Given the description of an element on the screen output the (x, y) to click on. 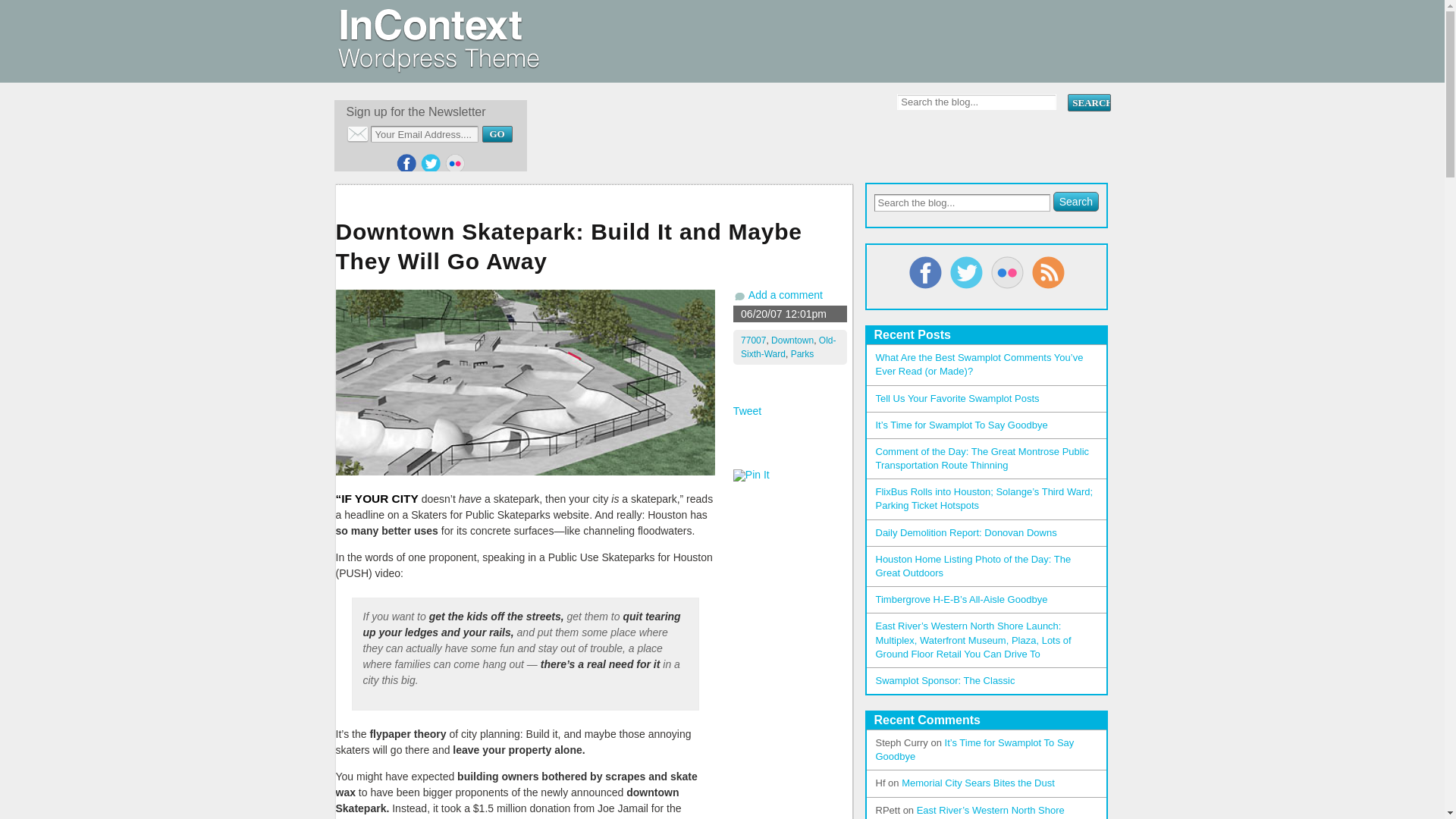
Follow us on Twitter (430, 163)
GO (496, 134)
See us on Flickr (454, 163)
Add a comment (785, 295)
Parks (801, 353)
Search (1088, 102)
Downtown Skatepark: Build It and Maybe They Will Go Away (592, 248)
Downtown (792, 339)
77007 (753, 339)
Search (1088, 102)
